Given the description of an element on the screen output the (x, y) to click on. 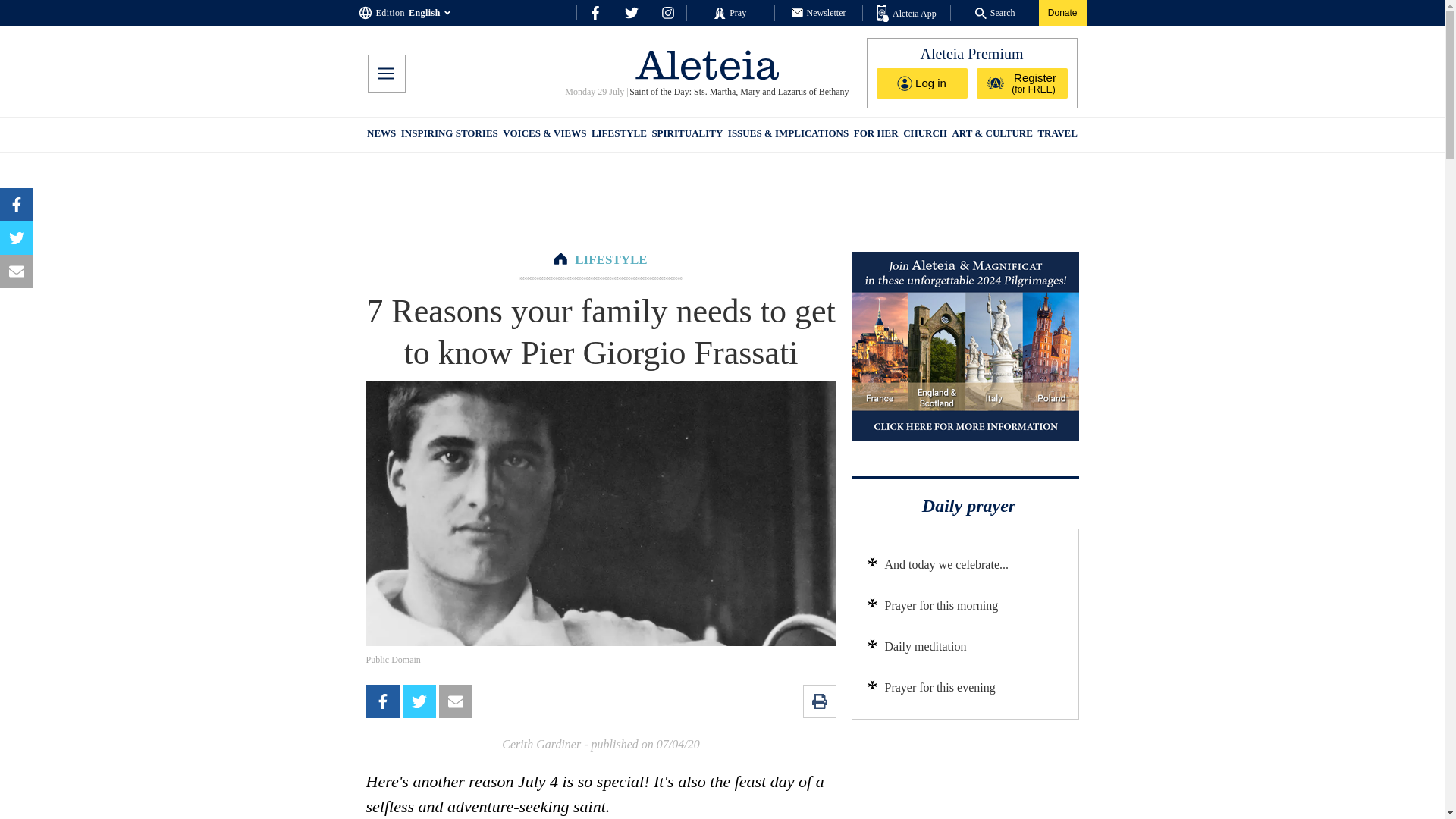
Pray (729, 12)
social-ig-top-row (668, 12)
CHURCH (924, 134)
SPIRITUALITY (686, 134)
INSPIRING STORIES (449, 134)
LIFESTYLE (610, 259)
TRAVEL (1056, 134)
social-fb-top-row (595, 12)
Newsletter (818, 12)
mobile-menu-btn (385, 73)
logo-header (706, 64)
Donate (1062, 12)
LIFESTYLE (618, 134)
Saint of the Day: Sts. Martha, Mary and Lazarus of Bethany (738, 91)
social-tw-top-row (631, 12)
